Given the description of an element on the screen output the (x, y) to click on. 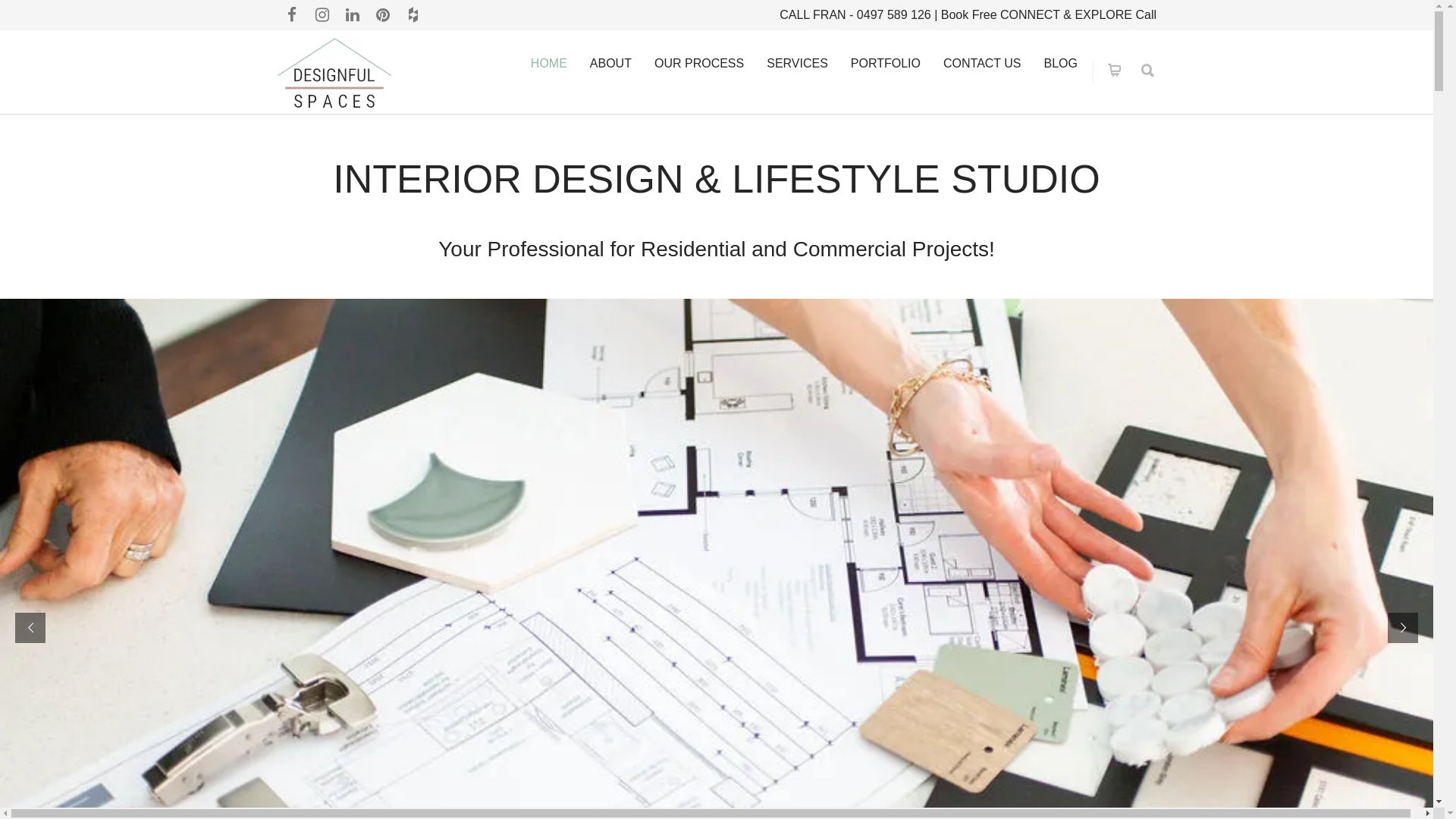
Houzz Element type: hover (413, 15)
Pinterest Element type: hover (382, 15)
CONTACT US Element type: text (981, 63)
LinkedIn Element type: hover (352, 15)
SERVICES Element type: text (797, 63)
PORTFOLIO Element type: text (885, 63)
ABOUT Element type: text (610, 63)
BLOG Element type: text (1060, 63)
Facebook Element type: hover (291, 15)
HOME Element type: text (548, 63)
OUR PROCESS Element type: text (699, 63)
Book Free CONNECT & EXPLORE Call Element type: text (1048, 14)
Instagram Element type: hover (322, 15)
CALL FRAN - 0497 589 126 Element type: text (855, 14)
